Given the description of an element on the screen output the (x, y) to click on. 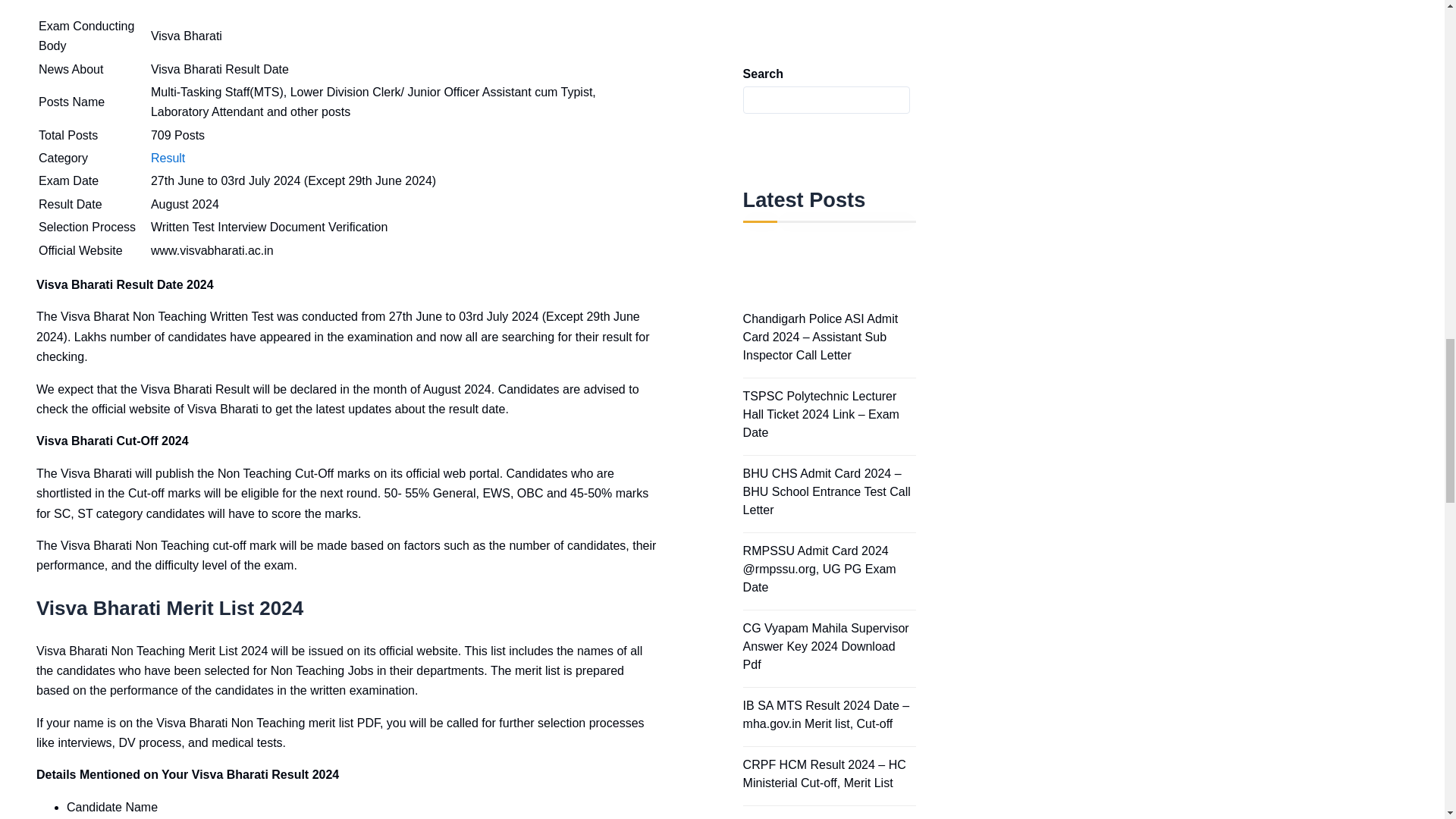
Result (167, 158)
